Given the description of an element on the screen output the (x, y) to click on. 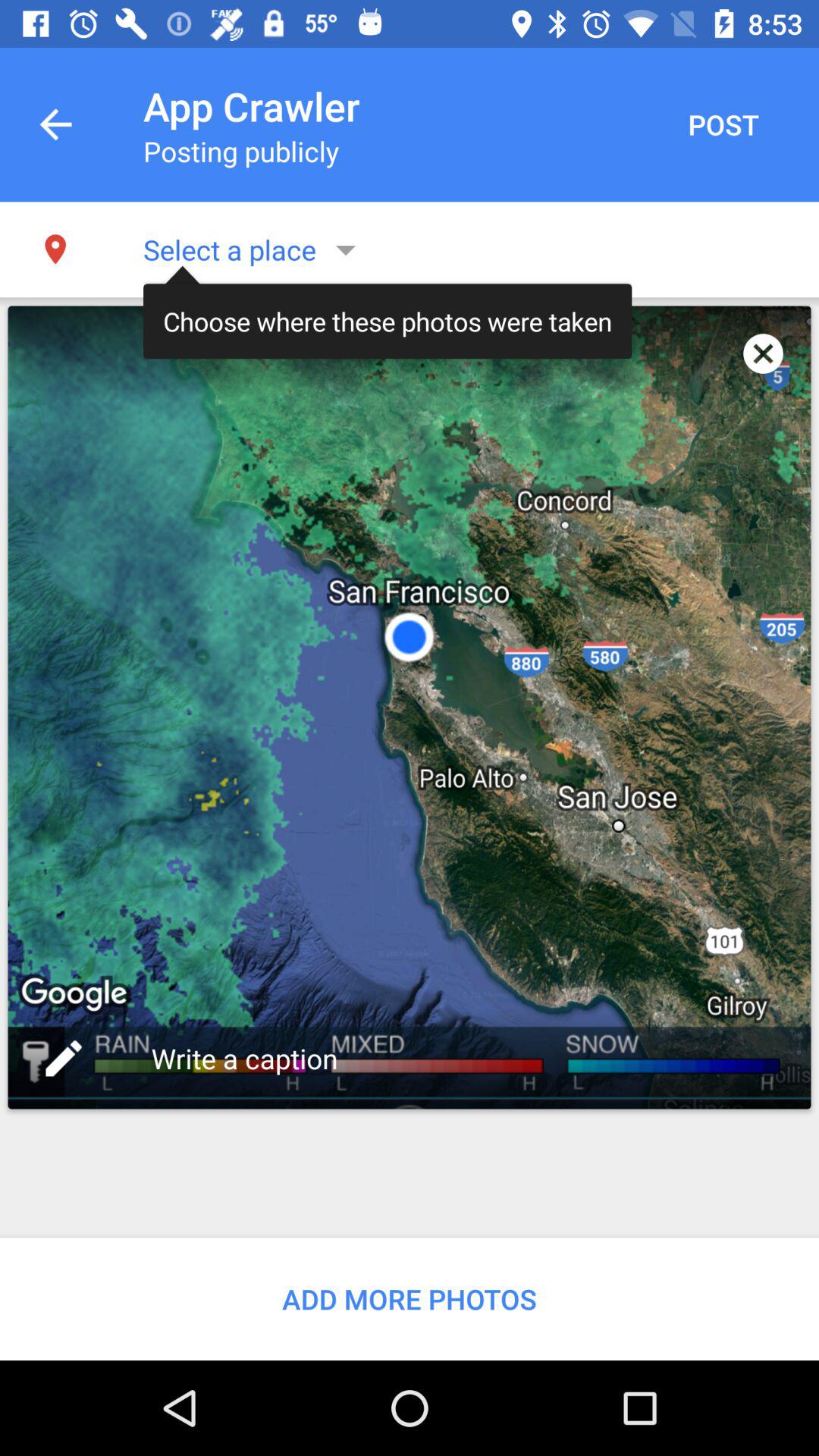
turn on the app next to the choose where these icon (763, 353)
